Given the description of an element on the screen output the (x, y) to click on. 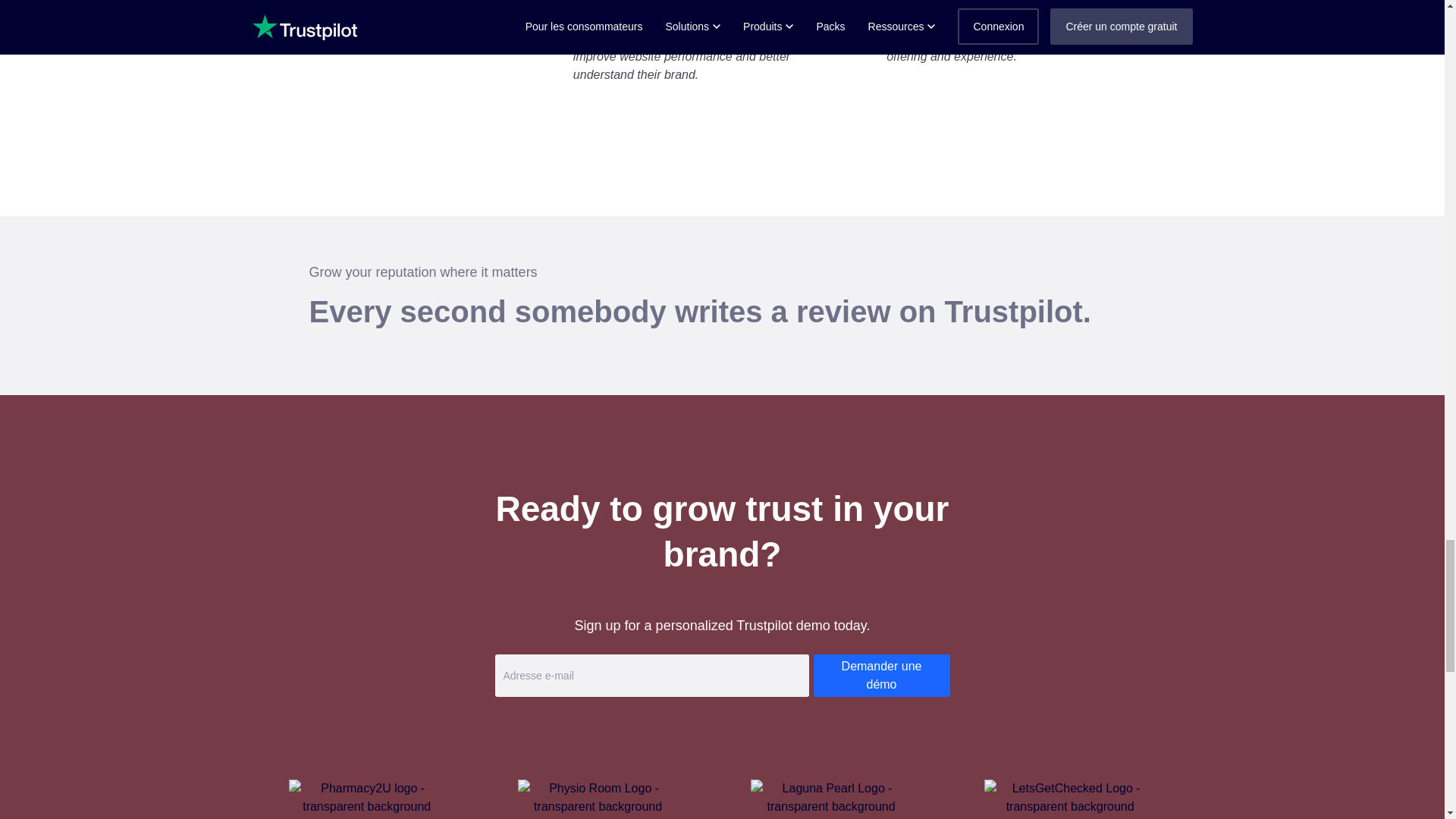
Physio Room logo with transparent background (598, 797)
email (651, 675)
Pharmacy2U logo with a transparent background (366, 797)
LetsGetChecked logo with transparent background (1070, 797)
Laguna Pearl logo with transparent background (831, 797)
